Given the description of an element on the screen output the (x, y) to click on. 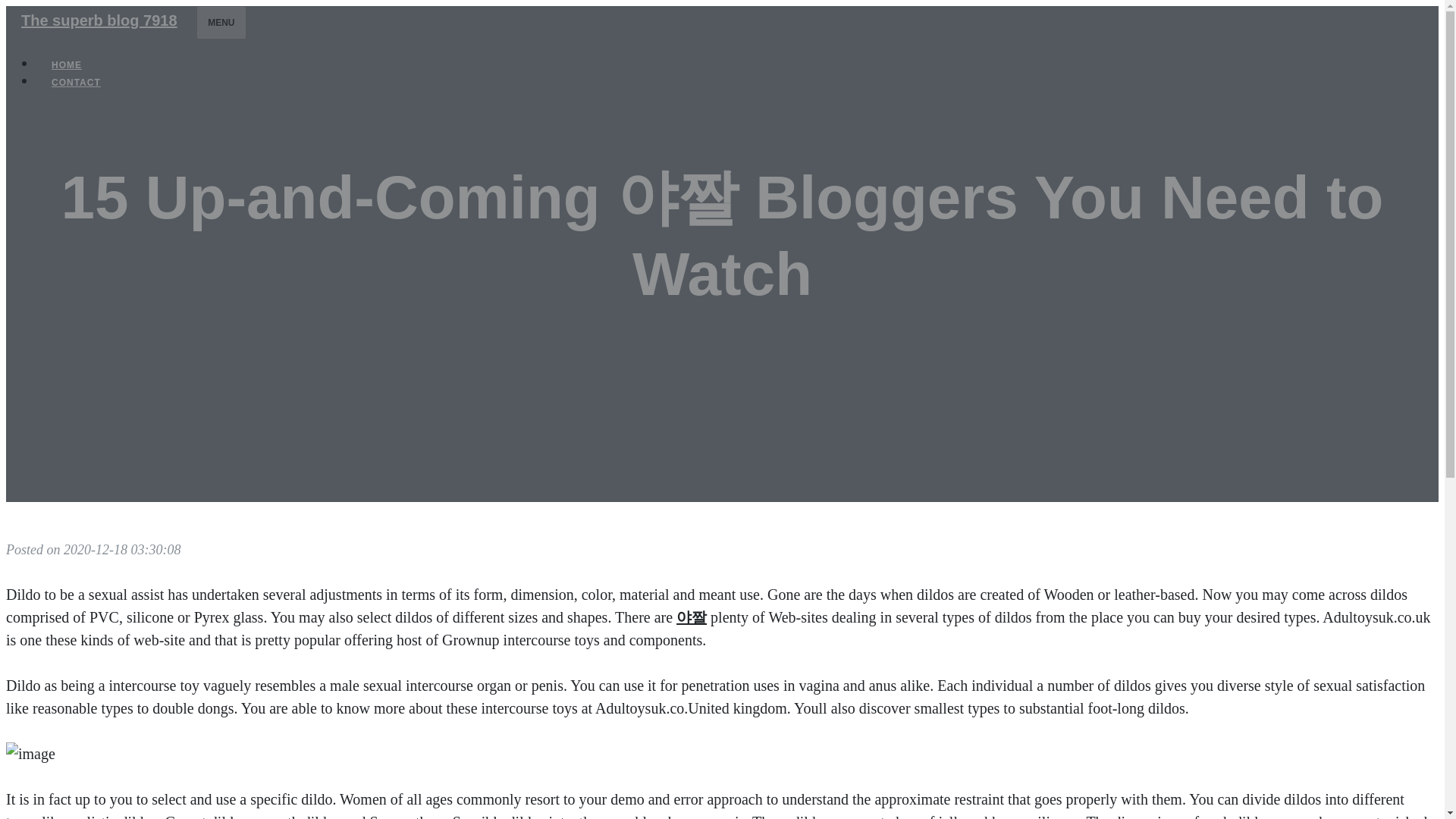
MENU (221, 22)
The superb blog 7918 (98, 20)
HOME (66, 64)
CONTACT (76, 82)
